Given the description of an element on the screen output the (x, y) to click on. 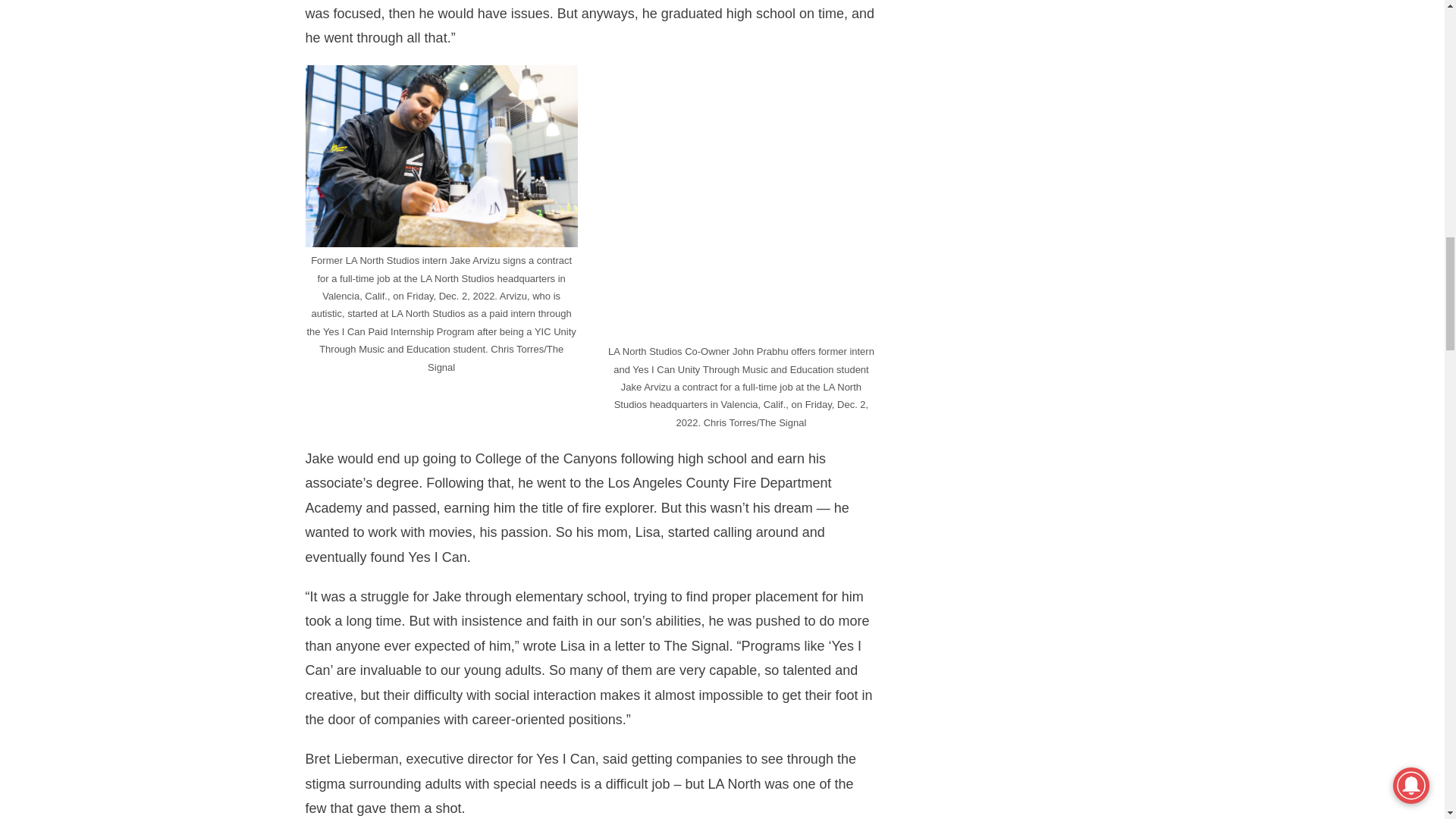
3rd party ad content (1031, 439)
3rd party ad content (1031, 235)
3rd party ad content (1031, 644)
3rd party ad content (1031, 62)
